Given the description of an element on the screen output the (x, y) to click on. 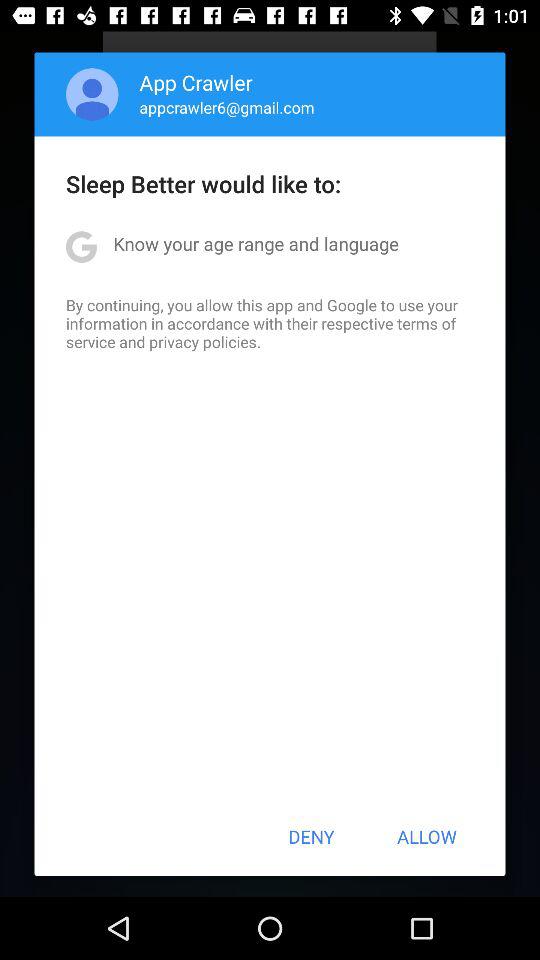
choose the app above by continuing you (255, 243)
